Given the description of an element on the screen output the (x, y) to click on. 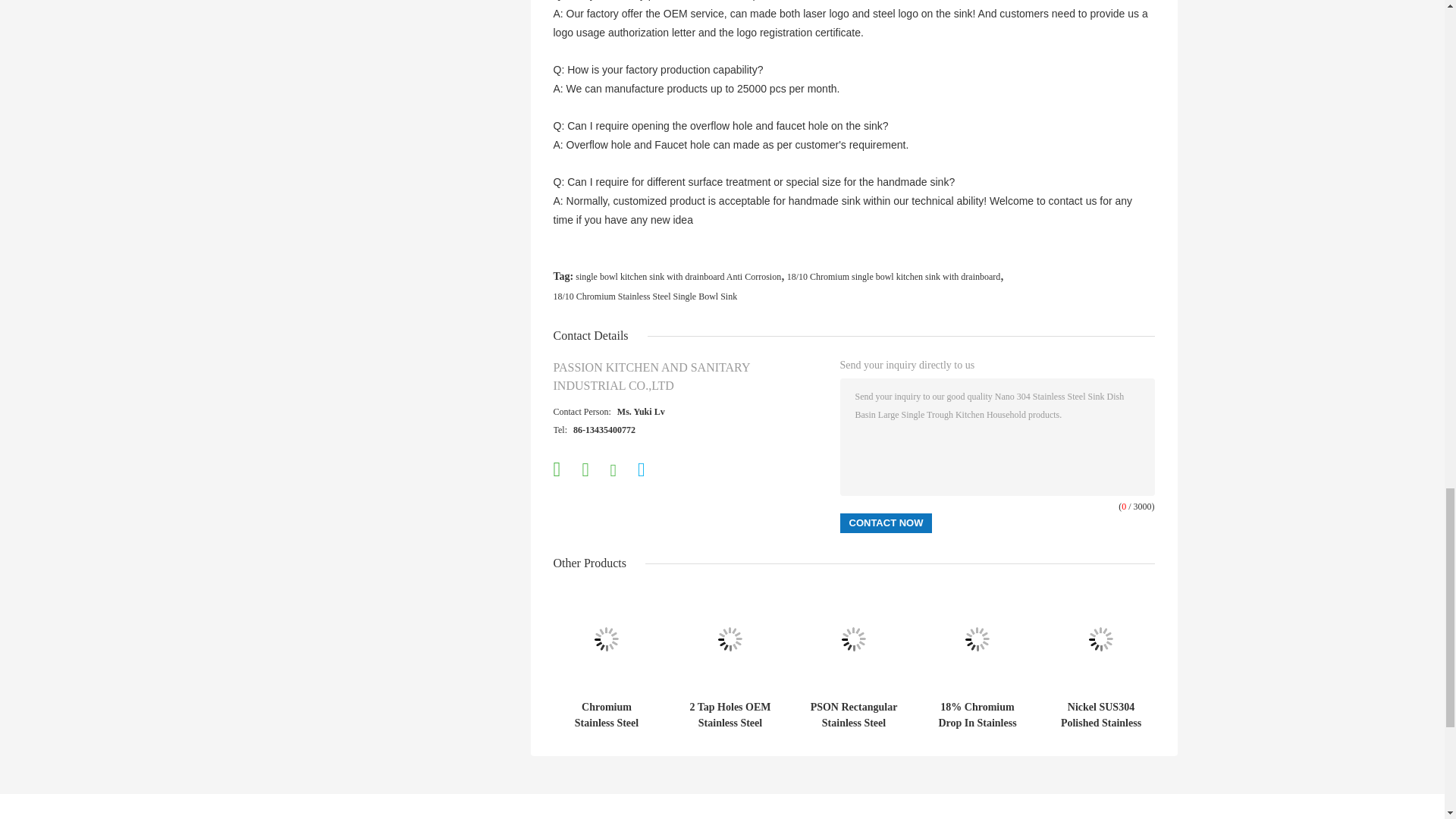
Contact Now (886, 523)
